Given the description of an element on the screen output the (x, y) to click on. 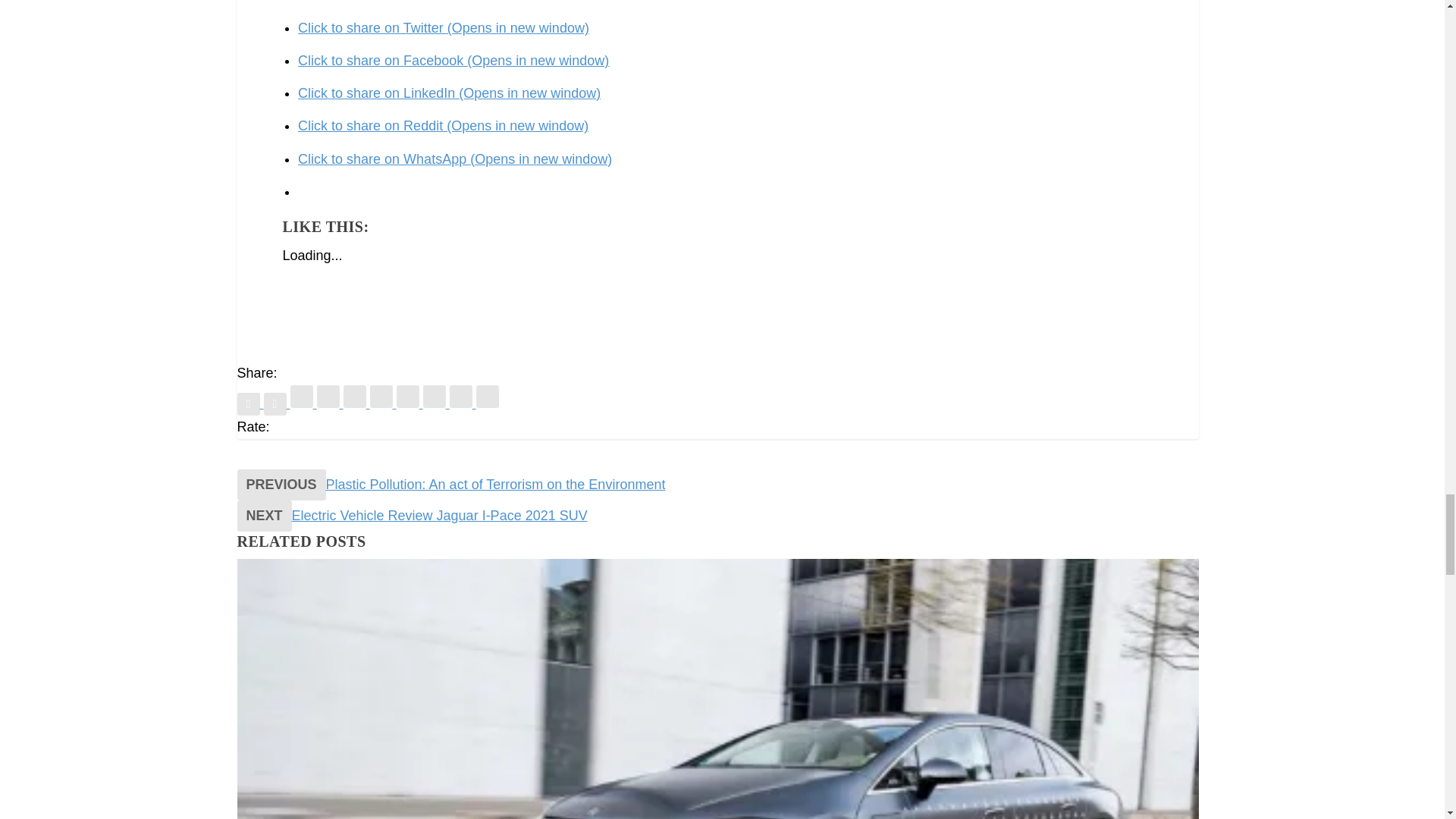
Click to share on Twitter (443, 28)
Click to share on LinkedIn (448, 92)
Click to share on Facebook (453, 60)
Click to share on WhatsApp (454, 159)
Click to share on Reddit (443, 125)
NEXTElectric Vehicle Review Jaguar I-Pace 2021 SUV (410, 515)
